Given the description of an element on the screen output the (x, y) to click on. 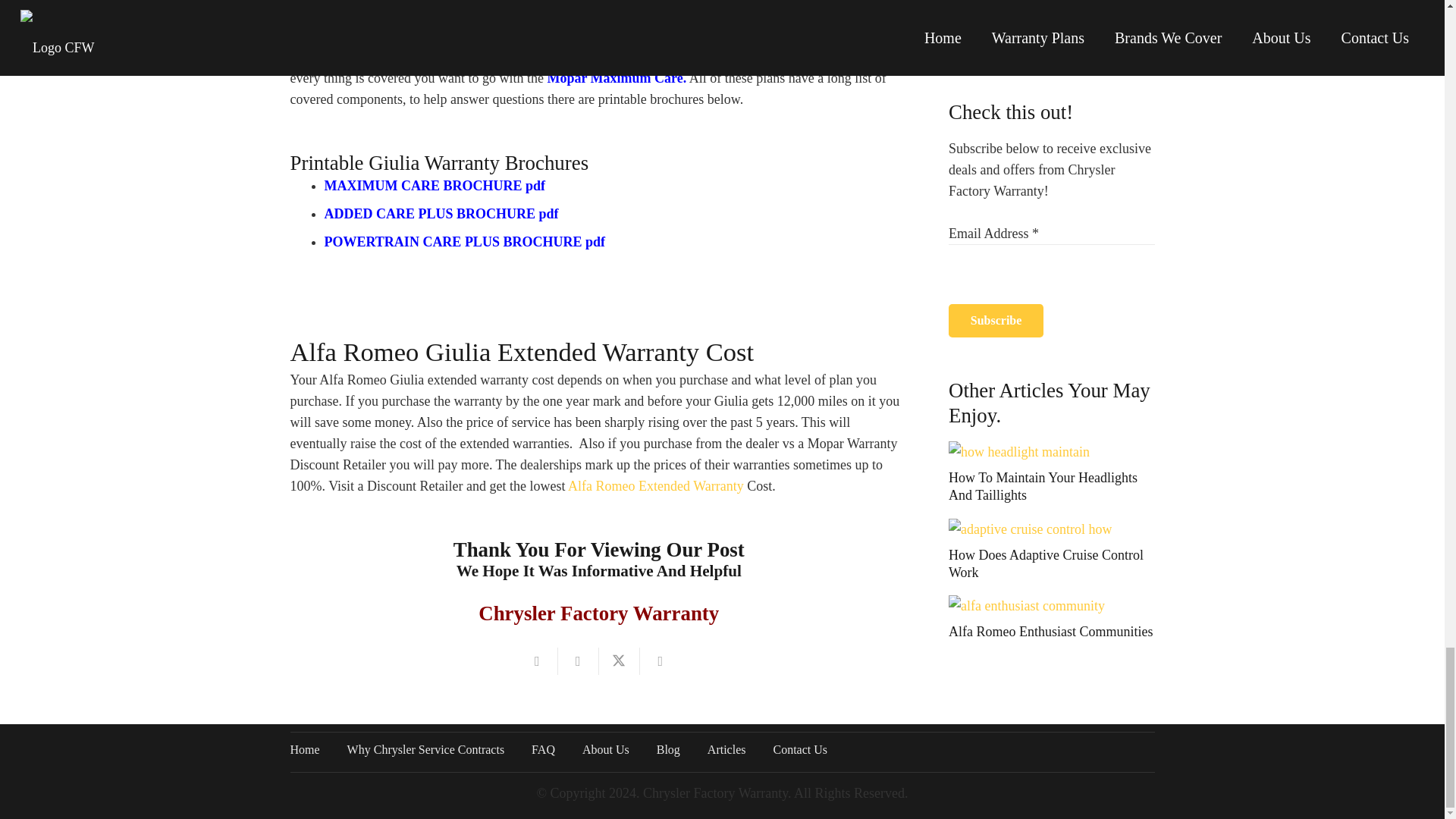
ADDED CARE PLUS BROCHURE pdf (441, 213)
Tweet this (619, 660)
Mopar Added Care Plus (562, 56)
POWERTRAIN CARE PLUS BROCHURE pdf (464, 241)
Mopar Powertrain Plus (668, 14)
Mopar Maximum Care (614, 77)
Share this (577, 660)
Email this (536, 660)
Alfa Romeo Extended Warranty (655, 485)
MAXIMUM CARE BROCHURE pdf (435, 185)
